Given the description of an element on the screen output the (x, y) to click on. 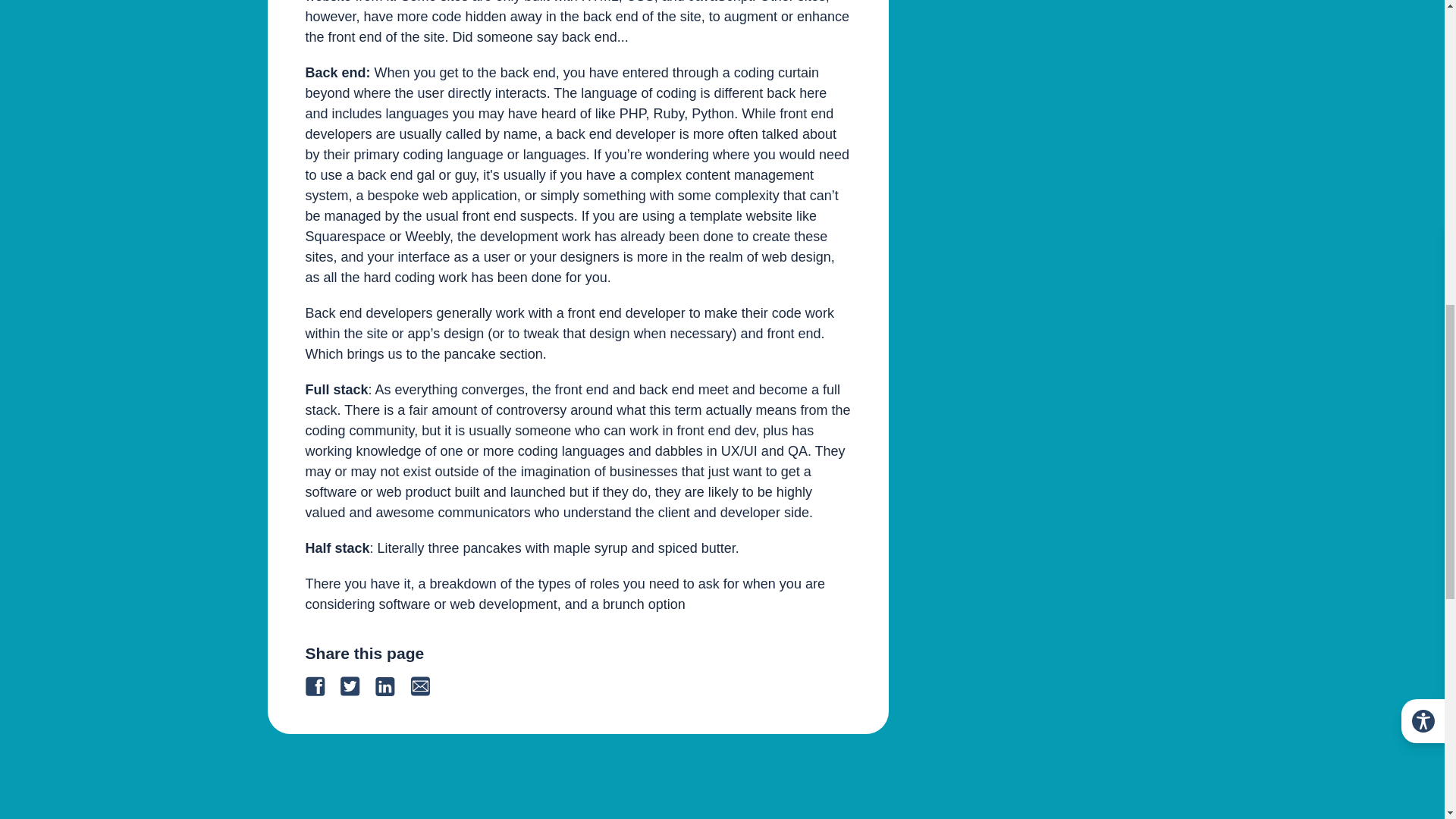
Share this on Facebook (321, 686)
Share this via email (426, 686)
Share this on LinkedIn (391, 686)
Share this on Twitter (356, 686)
